Given the description of an element on the screen output the (x, y) to click on. 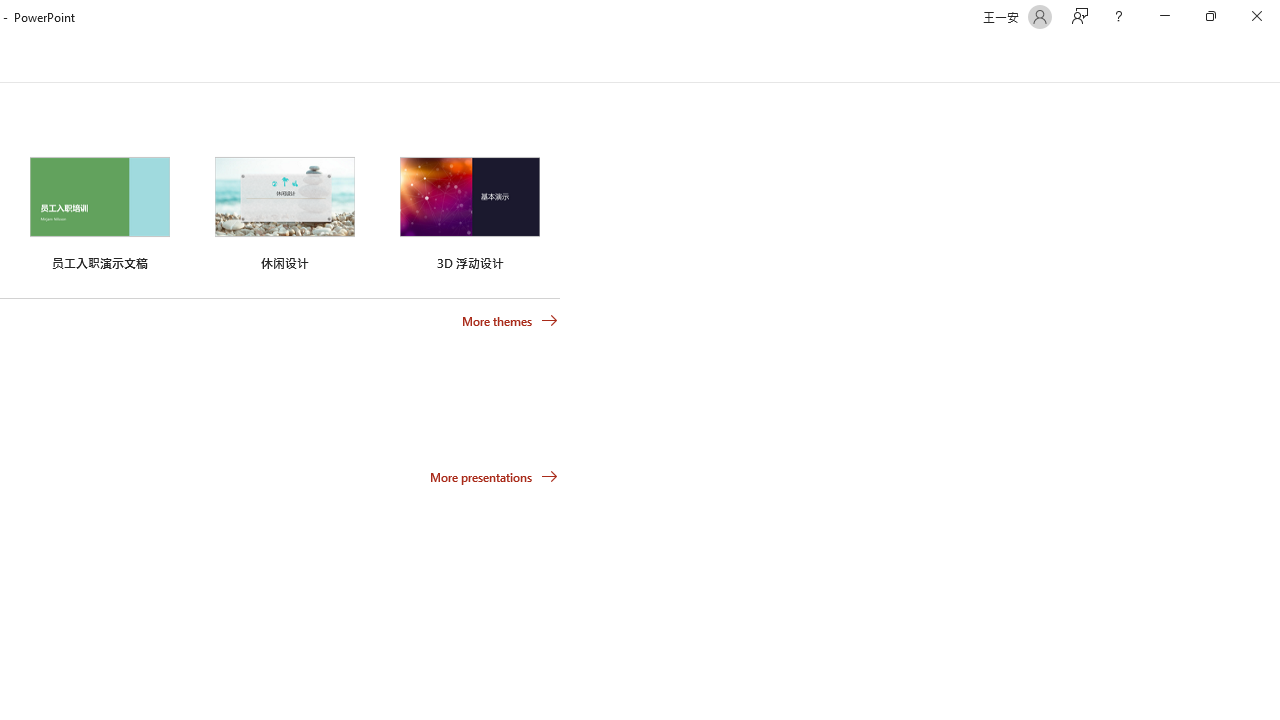
More themes (509, 321)
Class: NetUIScrollBar (1271, 59)
More presentations (493, 476)
